Given the description of an element on the screen output the (x, y) to click on. 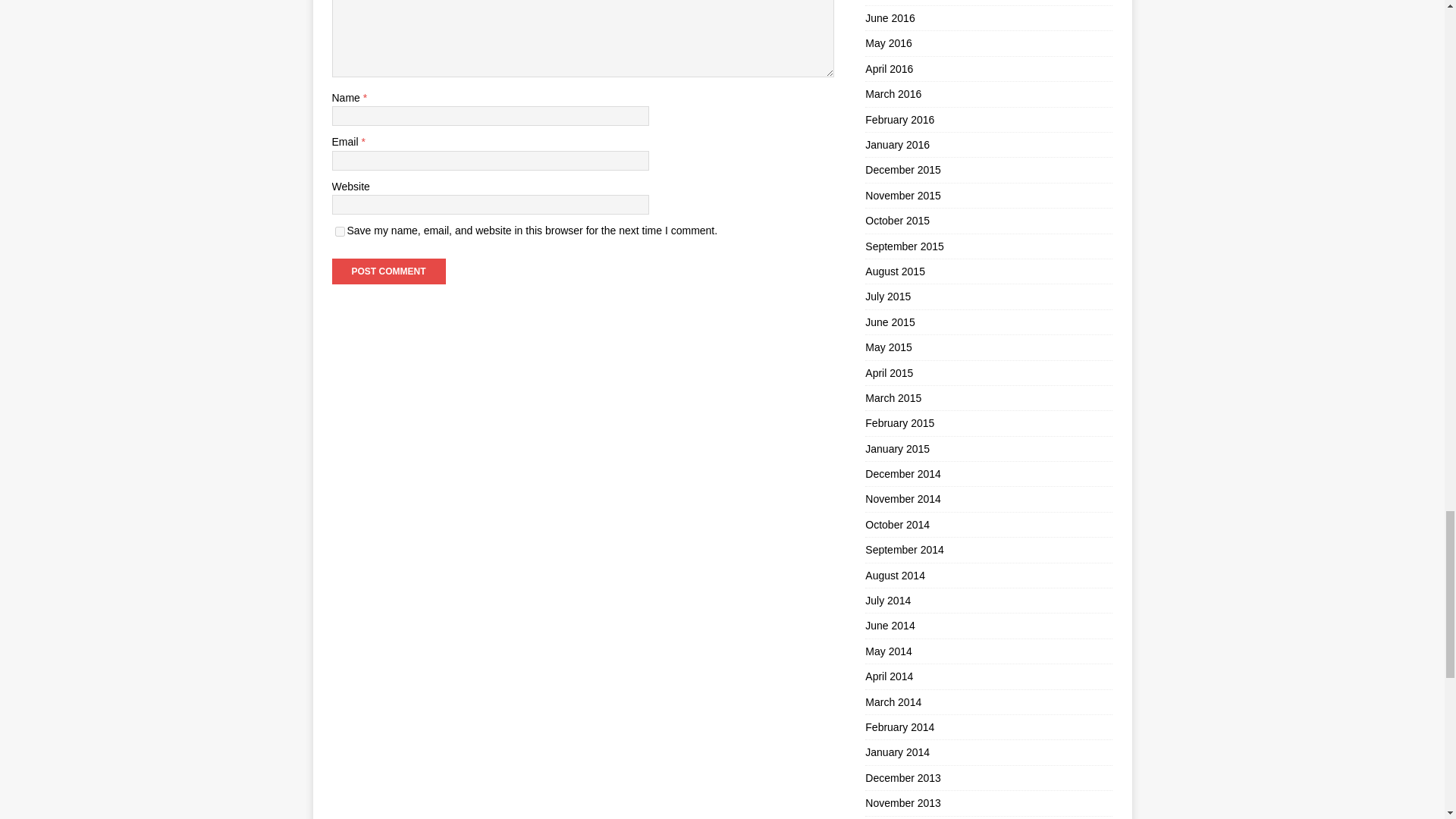
yes (339, 231)
Post Comment (388, 271)
